Given the description of an element on the screen output the (x, y) to click on. 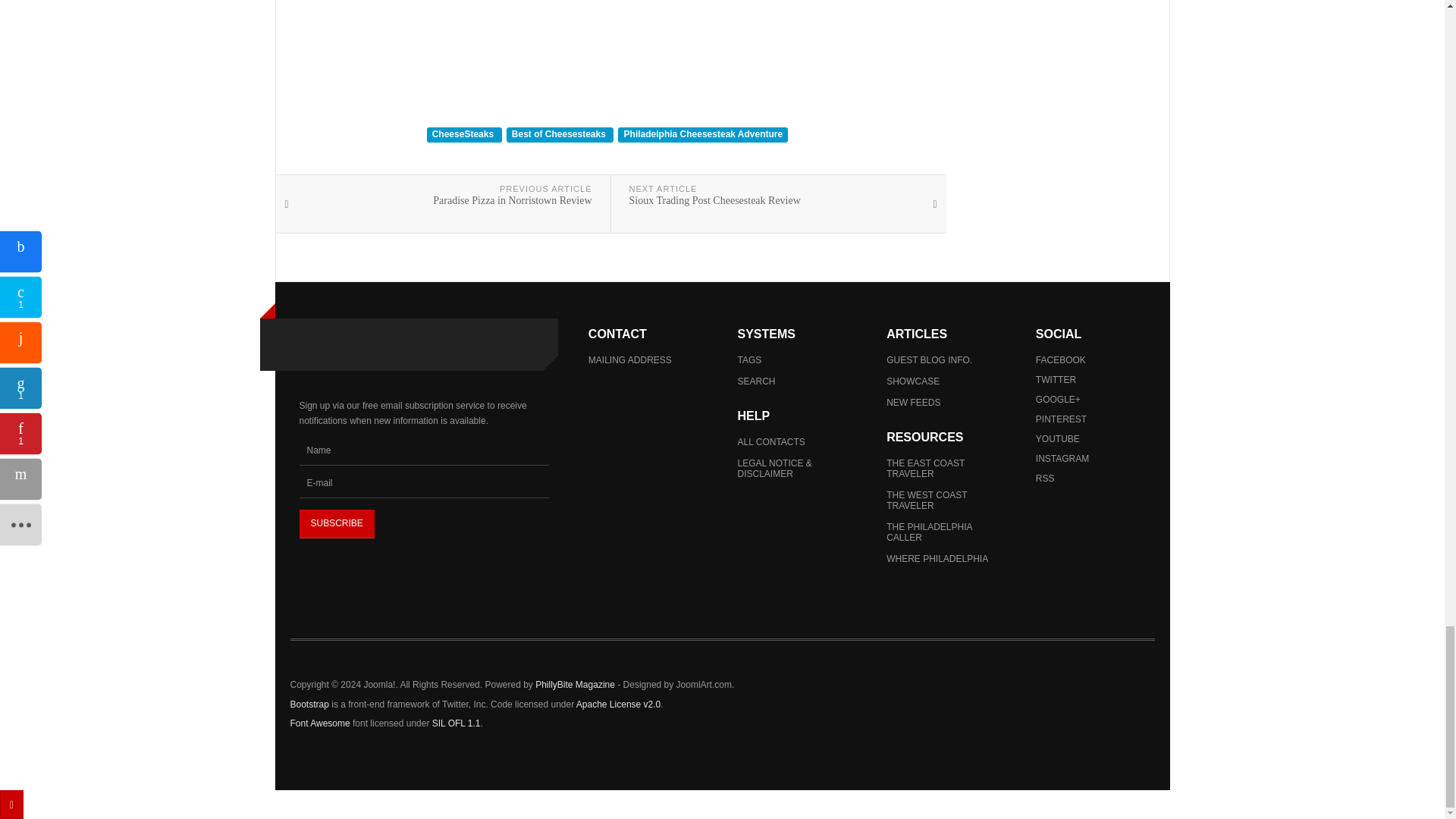
Name (423, 451)
Name (423, 451)
Subscribe (336, 523)
E-mail (423, 483)
E-mail (423, 483)
